Given the description of an element on the screen output the (x, y) to click on. 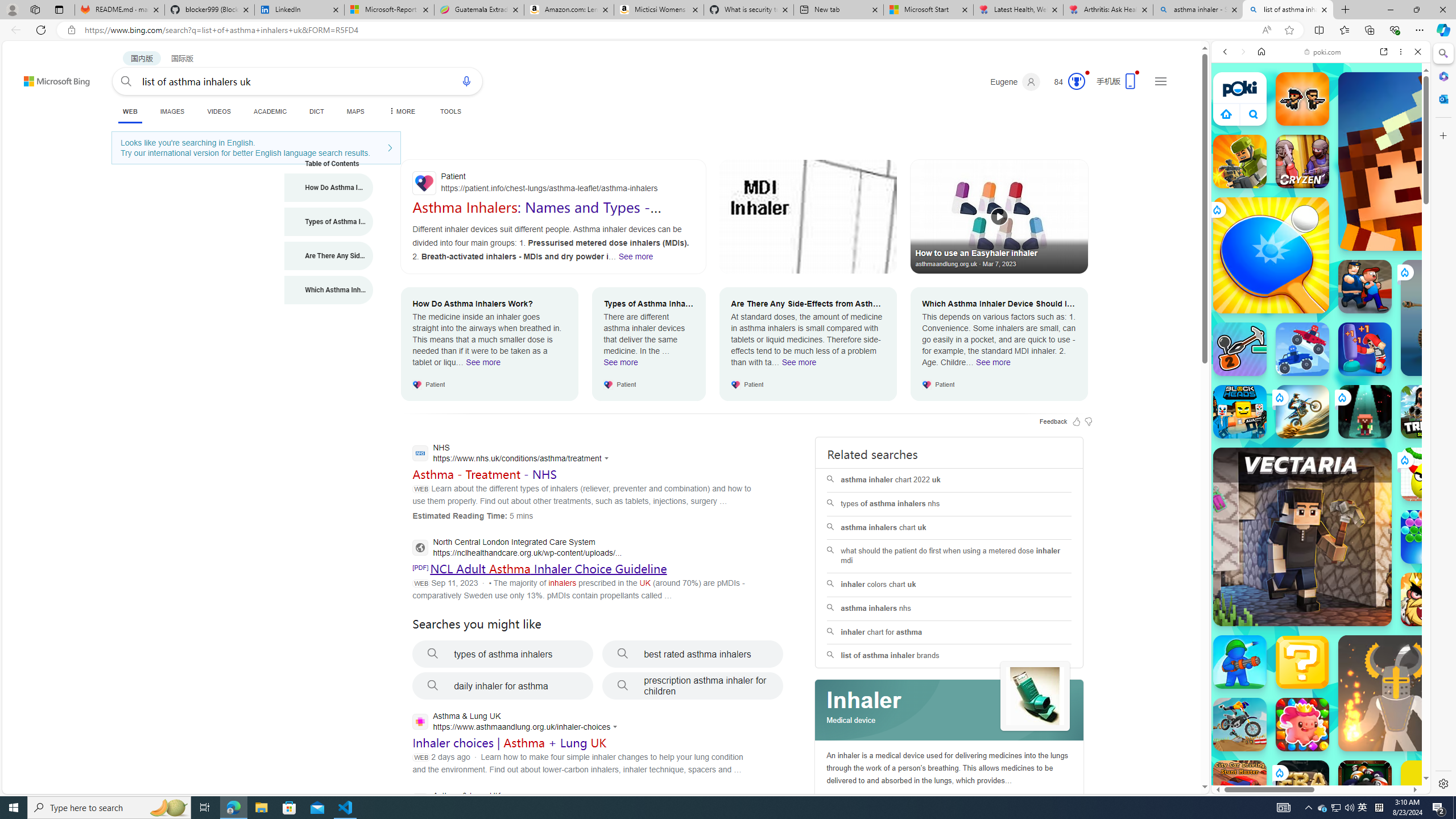
Ragdoll Hit Ragdoll Hit (1396, 693)
Battle Wheels Battle Wheels (1302, 348)
Cryzen.io Cryzen.io (1302, 161)
inhaler chart for asthma (949, 632)
Class: B_5ykBA46kDOxiz_R9wm (1253, 113)
Tribals.io (1427, 411)
Mystery Tile (1302, 661)
